Given the description of an element on the screen output the (x, y) to click on. 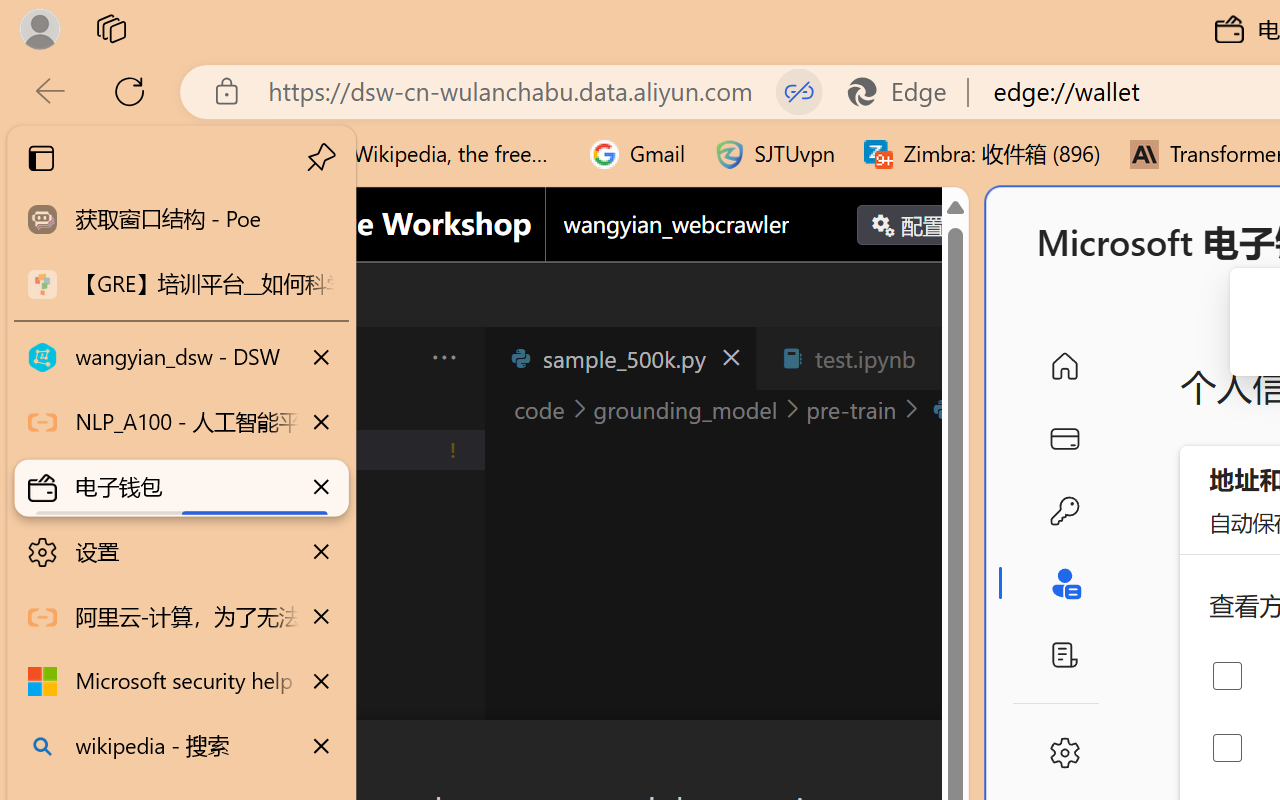
Close Dialog (959, 756)
Edge (905, 91)
Views and More Actions... (442, 357)
Wikipedia, the free encyclopedia (437, 154)
Explorer (Ctrl+Shift+E) (135, 432)
Close (Ctrl+F4) (946, 358)
